Given the description of an element on the screen output the (x, y) to click on. 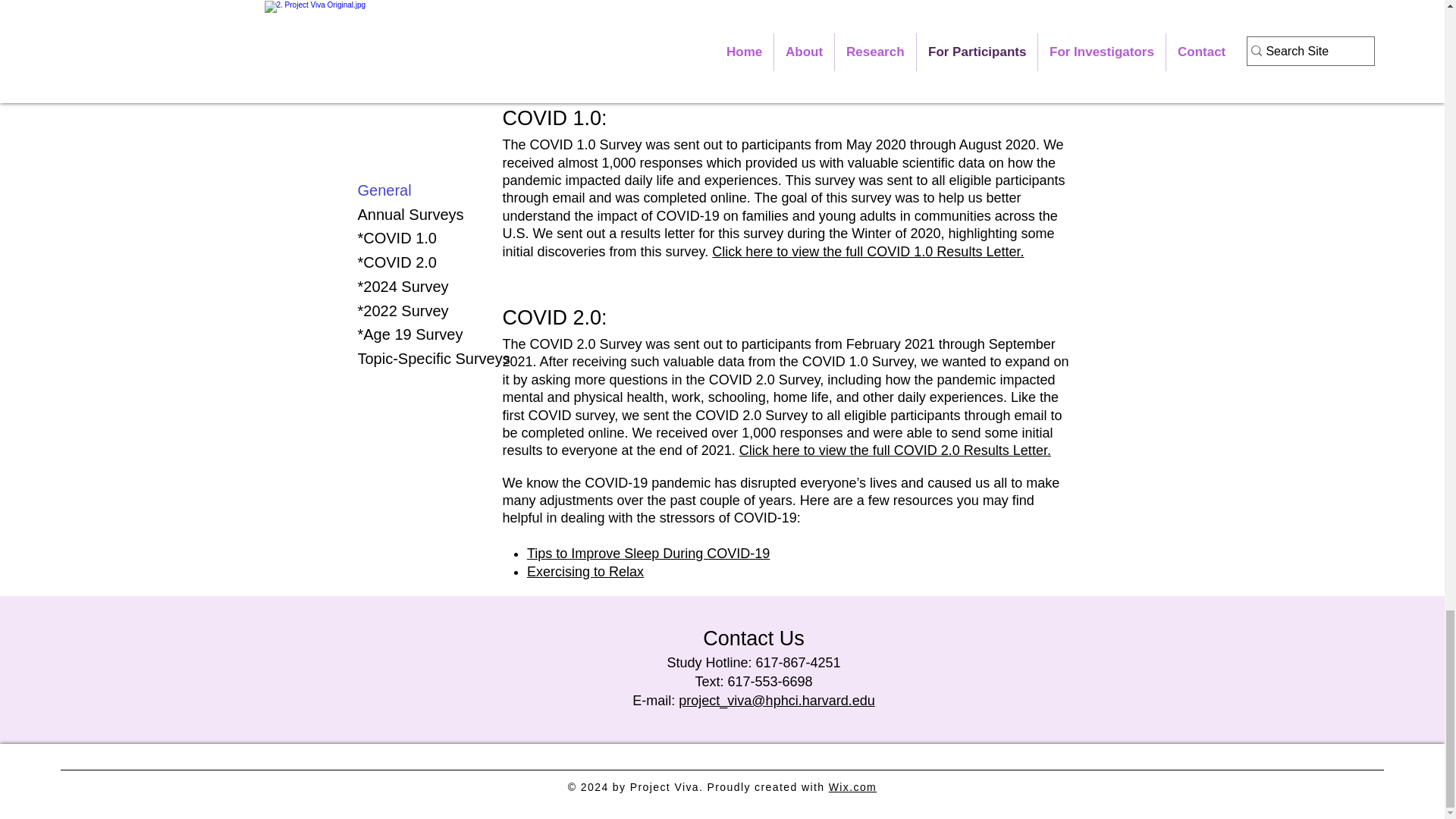
Tips to Improve Sleep During COVID-19 (648, 553)
Click here to view the full COVID 1.0 Results Letter. (867, 251)
Click here to view the full COVID 2.0 Results Letter. (895, 450)
